Given the description of an element on the screen output the (x, y) to click on. 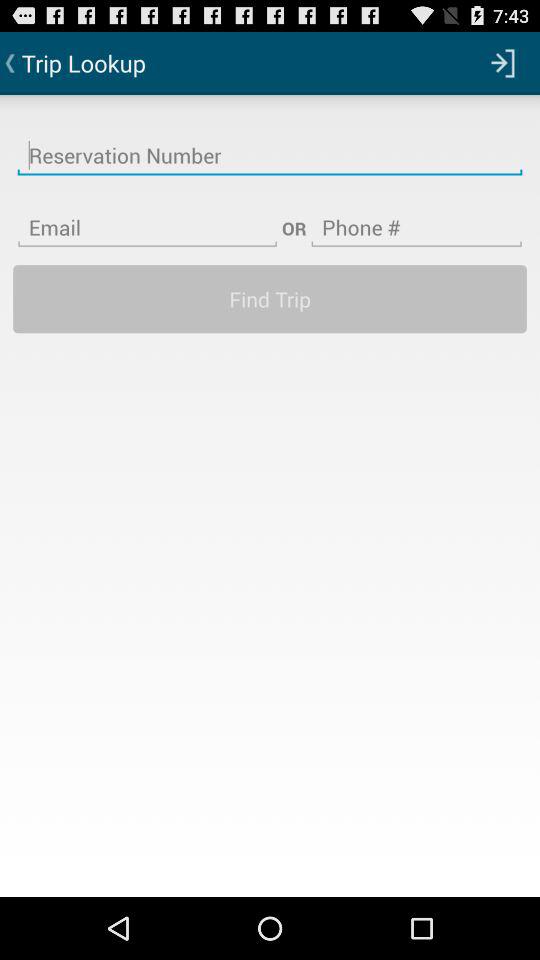
open to type reservation number (269, 143)
